Given the description of an element on the screen output the (x, y) to click on. 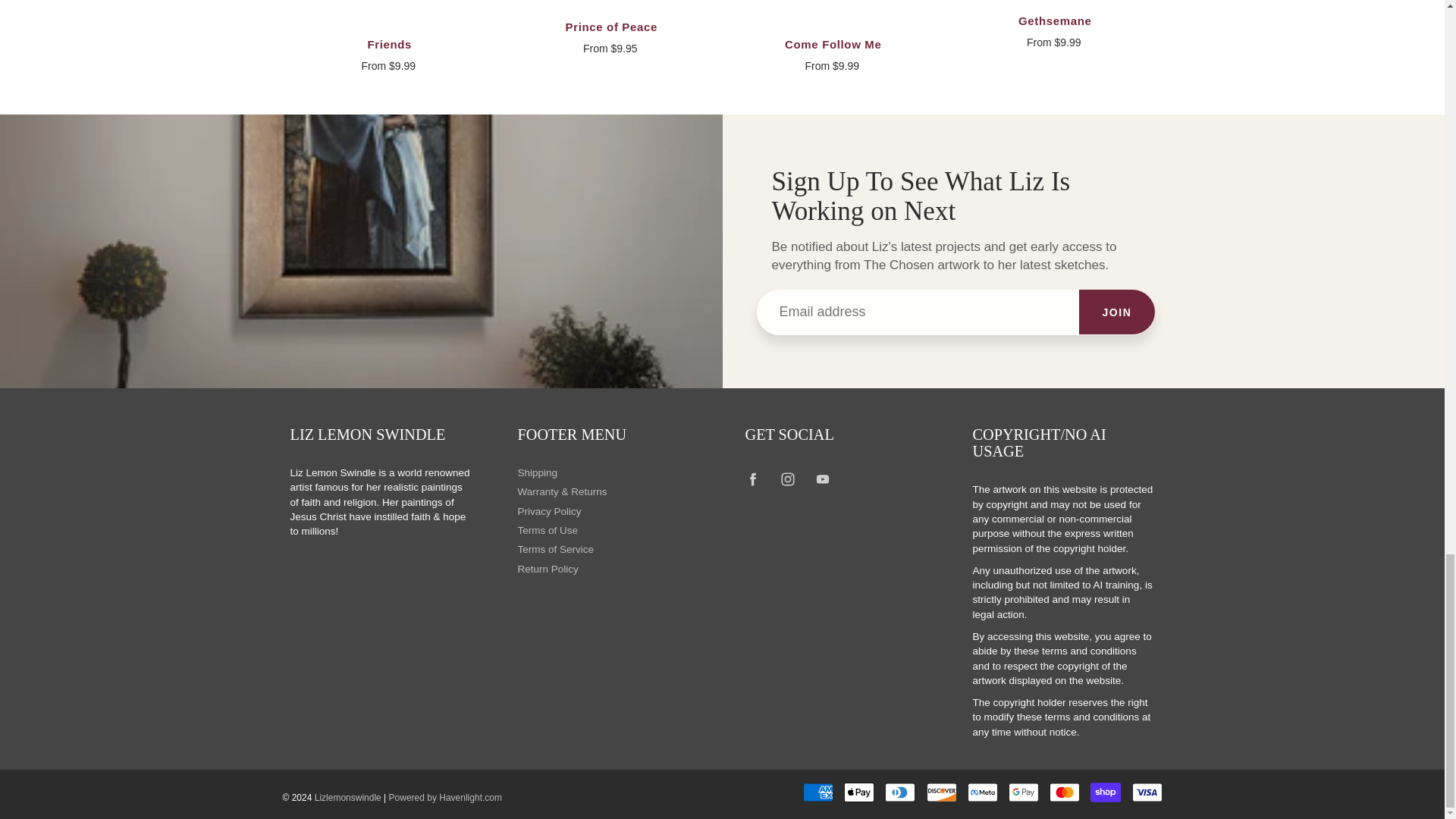
American Express (817, 792)
Visa (1146, 792)
Apple Pay (859, 792)
Shop Pay (1105, 792)
Discover (941, 792)
Diners Club (900, 792)
Mastercard (1064, 792)
Meta Pay (982, 792)
Google Pay (1024, 792)
